Given the description of an element on the screen output the (x, y) to click on. 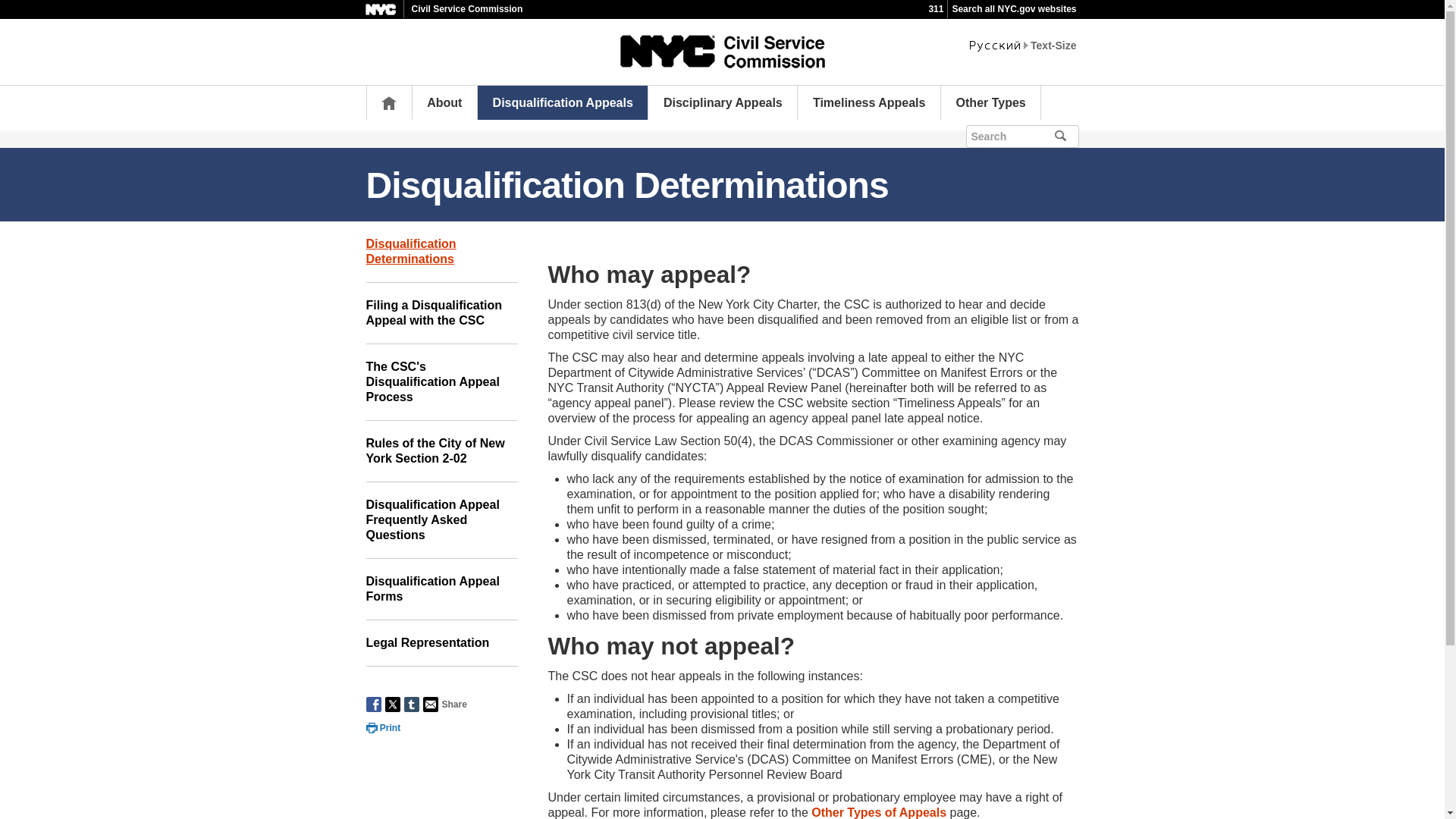
Search all NYC.gov websites (1013, 9)
Legal Representation (440, 642)
Filing a Disqualification Appeal with the CSC (440, 312)
submit (1081, 134)
Disqualification Appeal Forms (440, 588)
Disqualification Appeal Frequently Asked Questions (440, 520)
Disqualification Appeals (563, 102)
Disciplinary Appeals (723, 102)
Other Types (991, 102)
Rules of the City of New York Section 2-02 (440, 451)
Other Types of Appeals (878, 812)
311 (935, 9)
Text-Size (1052, 45)
The CSC's Disqualification Appeal Process (440, 381)
submit (1066, 136)
